Given the description of an element on the screen output the (x, y) to click on. 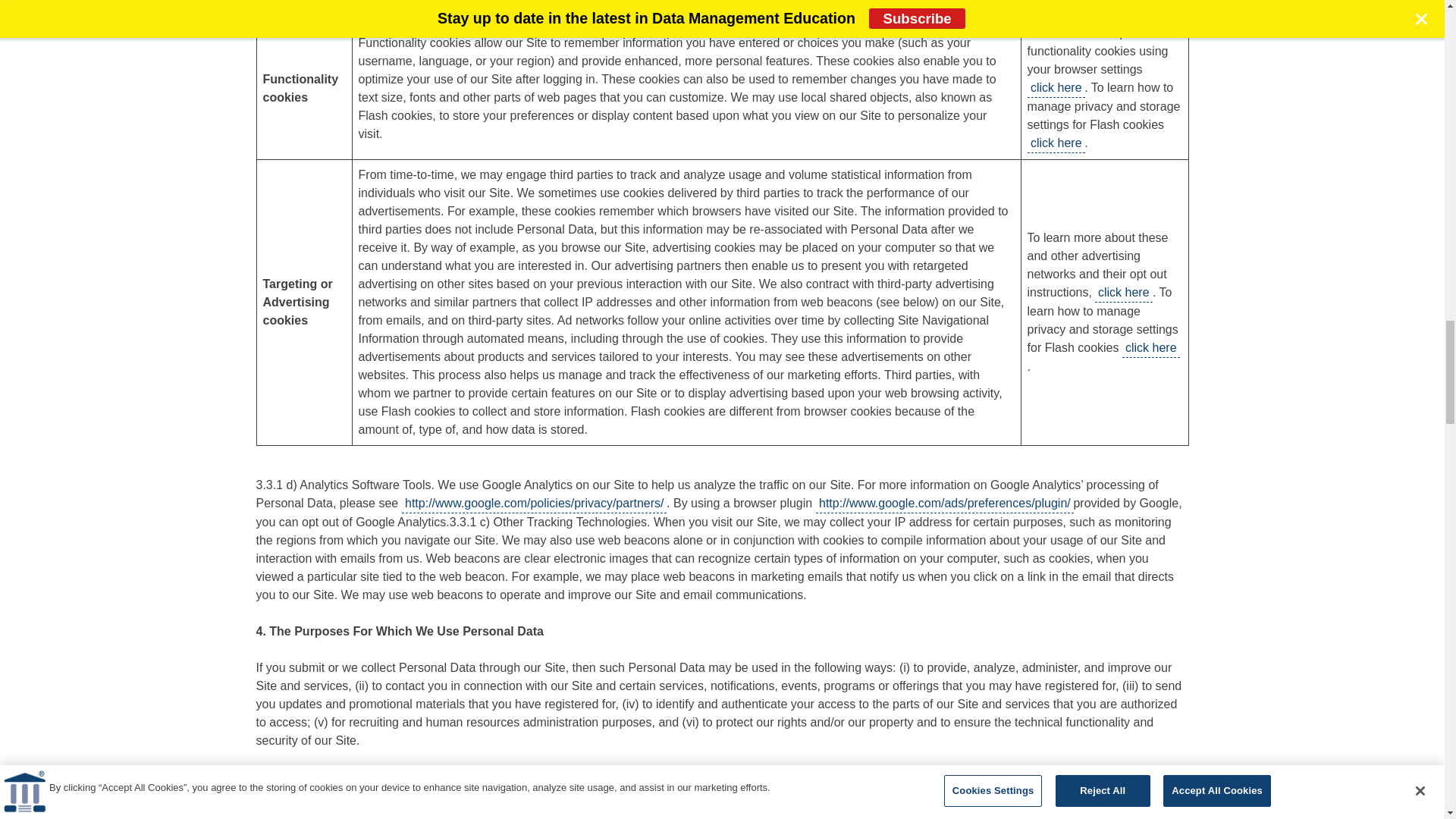
click here (1150, 348)
click here (1055, 87)
click here (1055, 143)
click here (1123, 292)
click here (1055, 5)
